Given the description of an element on the screen output the (x, y) to click on. 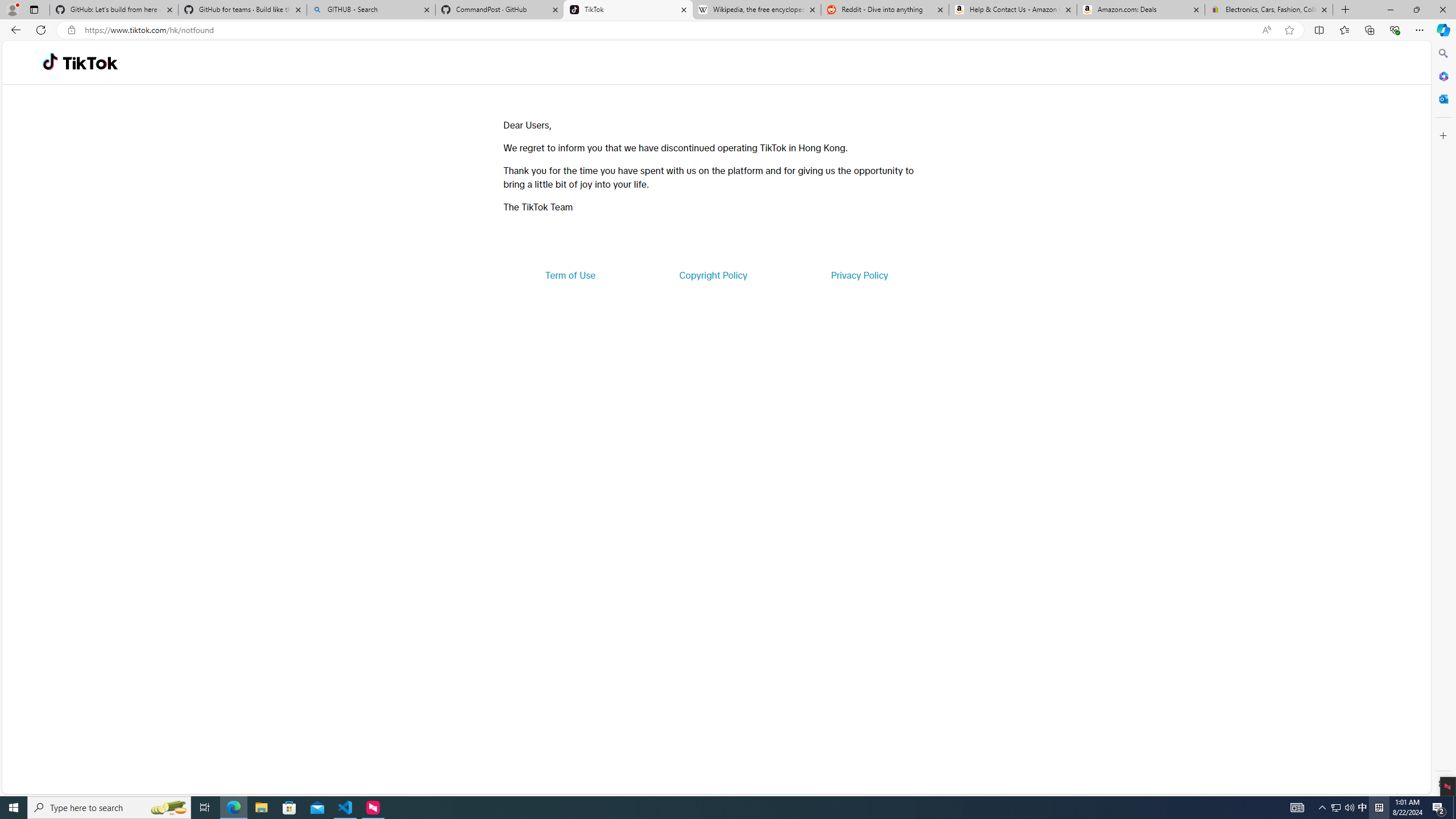
Wikipedia, the free encyclopedia (756, 9)
GITHUB - Search (370, 9)
Privacy Policy (858, 274)
